Given the description of an element on the screen output the (x, y) to click on. 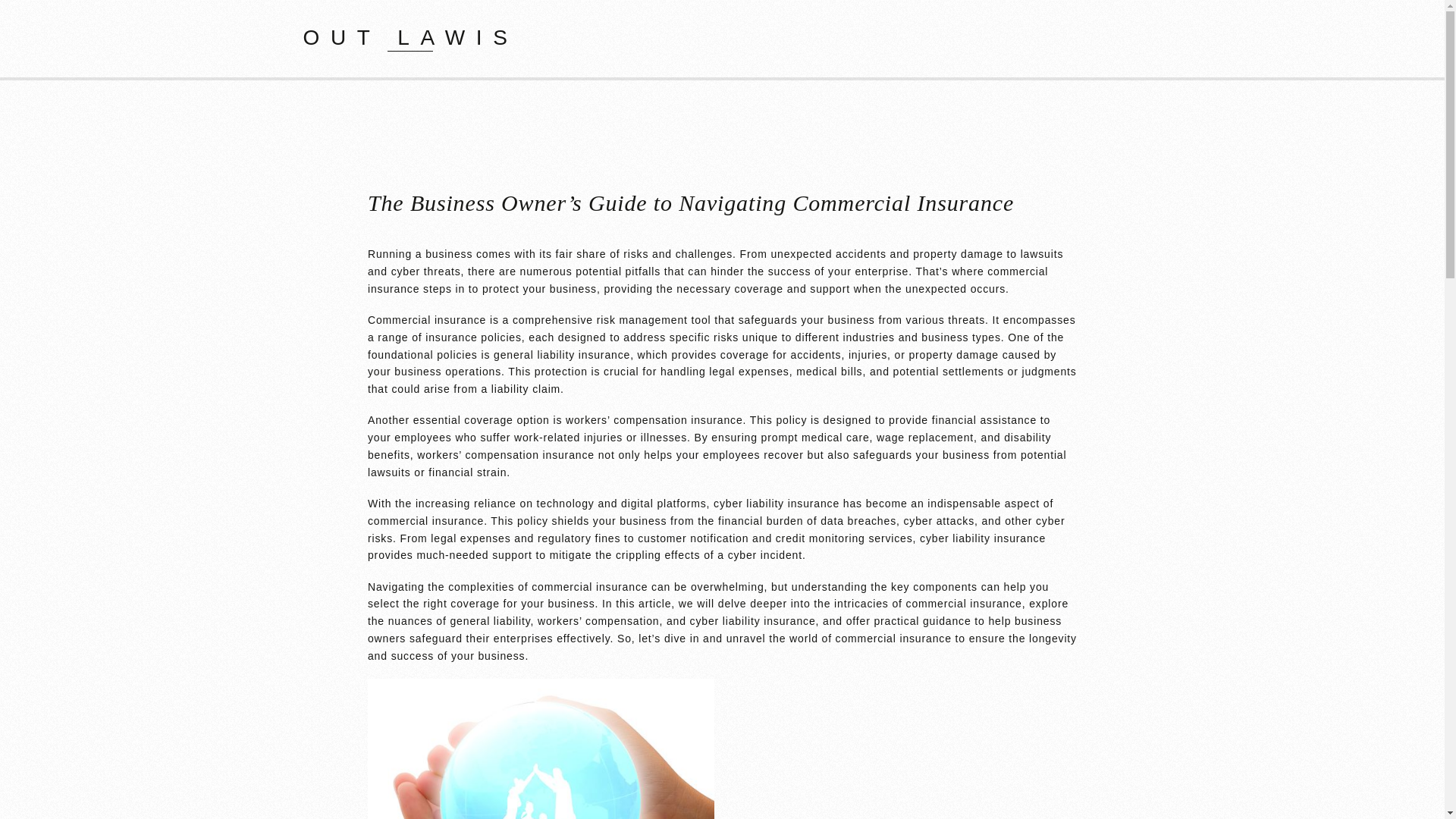
OUT LAWIS (410, 37)
